Given the description of an element on the screen output the (x, y) to click on. 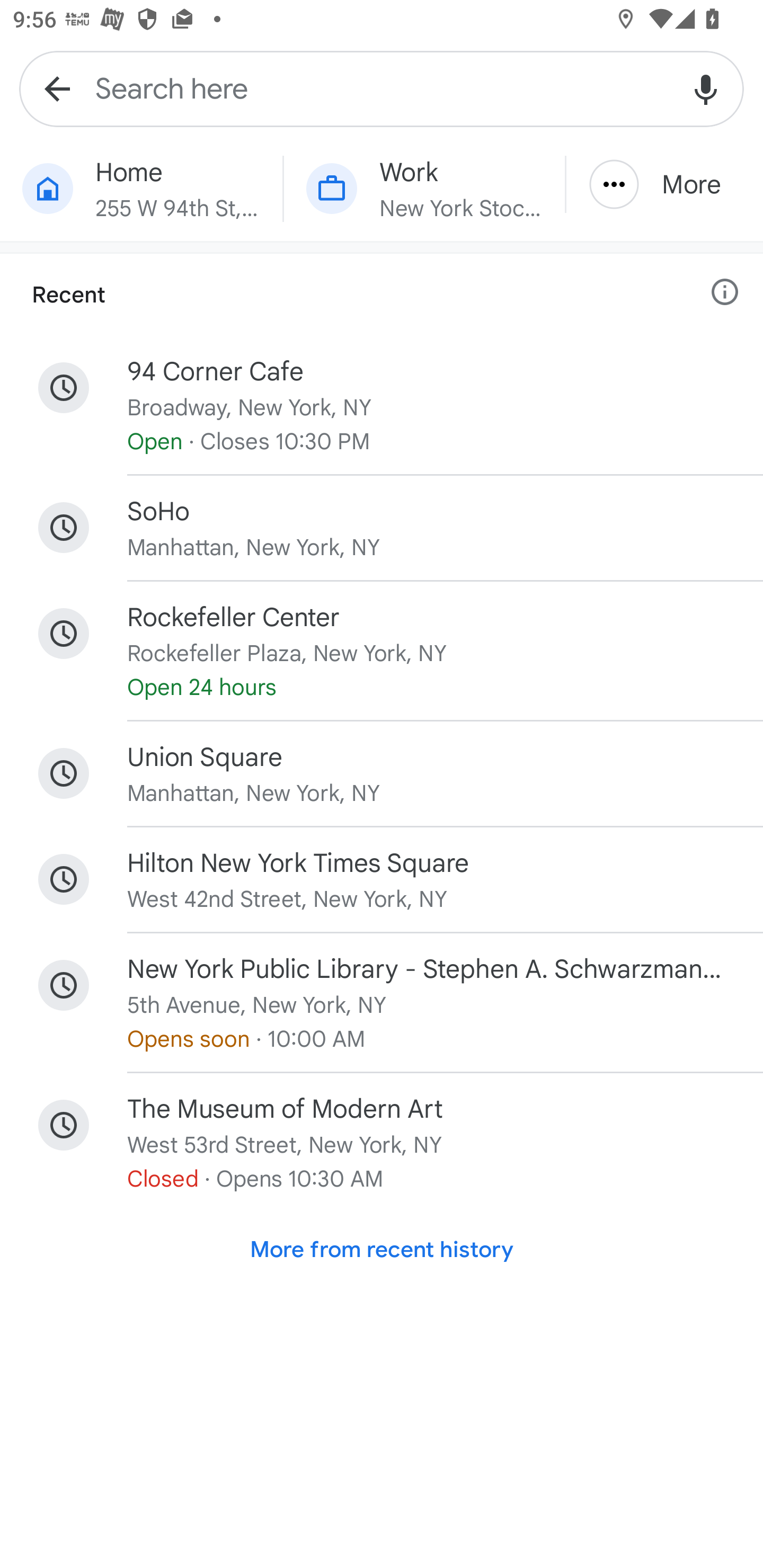
Navigate up (57, 88)
Search here (381, 88)
Voice search (705, 88)
More (664, 184)
SoHo Manhattan, New York, NY (381, 527)
Union Square Manhattan, New York, NY (381, 773)
More from recent history (381, 1249)
